Given the description of an element on the screen output the (x, y) to click on. 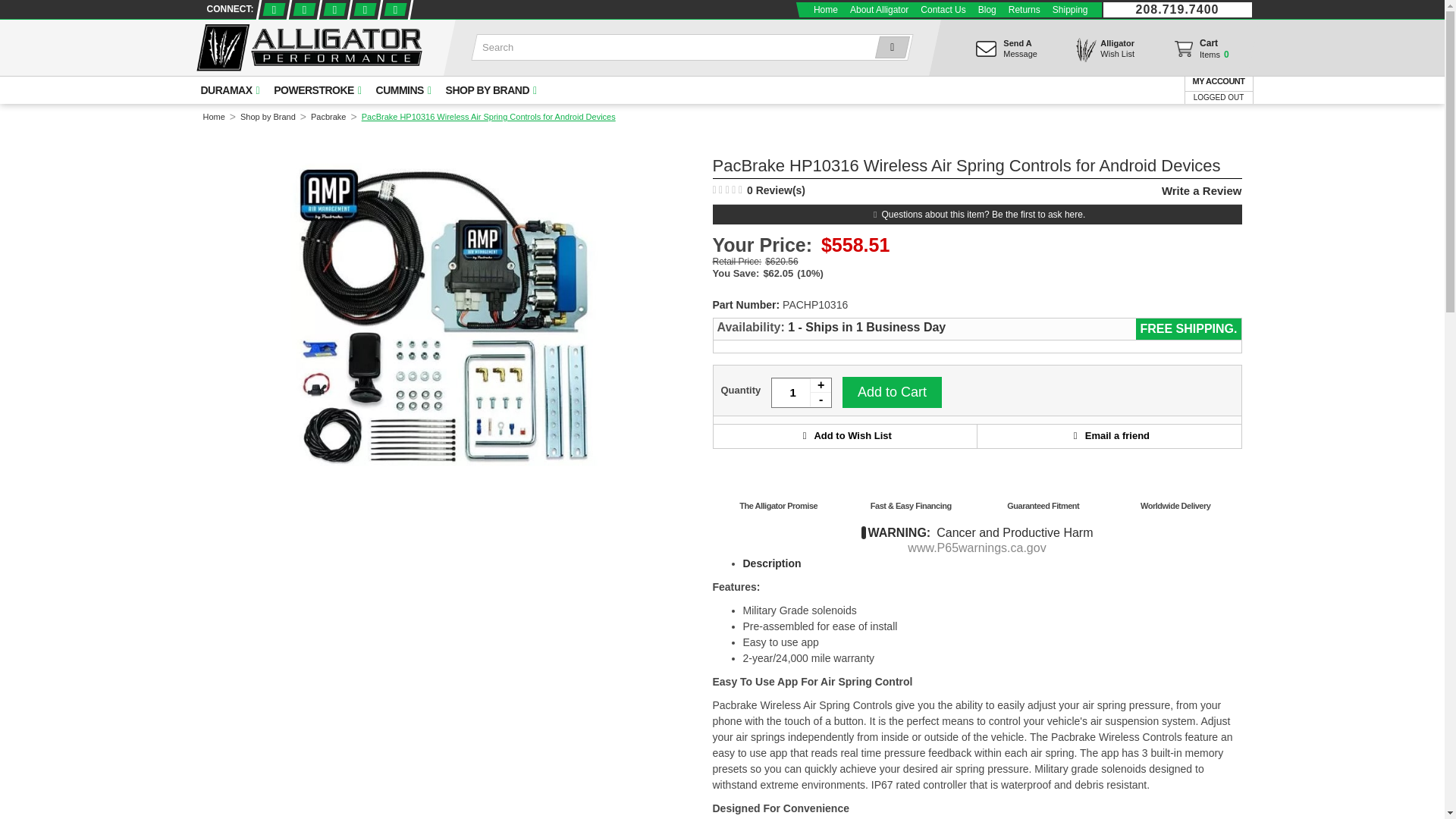
About Alligator (879, 9)
Subscribe to our Channel (333, 9)
Blog (987, 9)
DURAMAX (227, 90)
Follow Us on Pinterest (363, 9)
Follow Us on Instagram (394, 9)
208.719.7400 (1177, 9)
1 (801, 392)
Like Us on Facebook (272, 9)
Returns (1024, 9)
search button (889, 47)
Shipping (1070, 9)
Contact Us (1200, 52)
Home (942, 9)
